Given the description of an element on the screen output the (x, y) to click on. 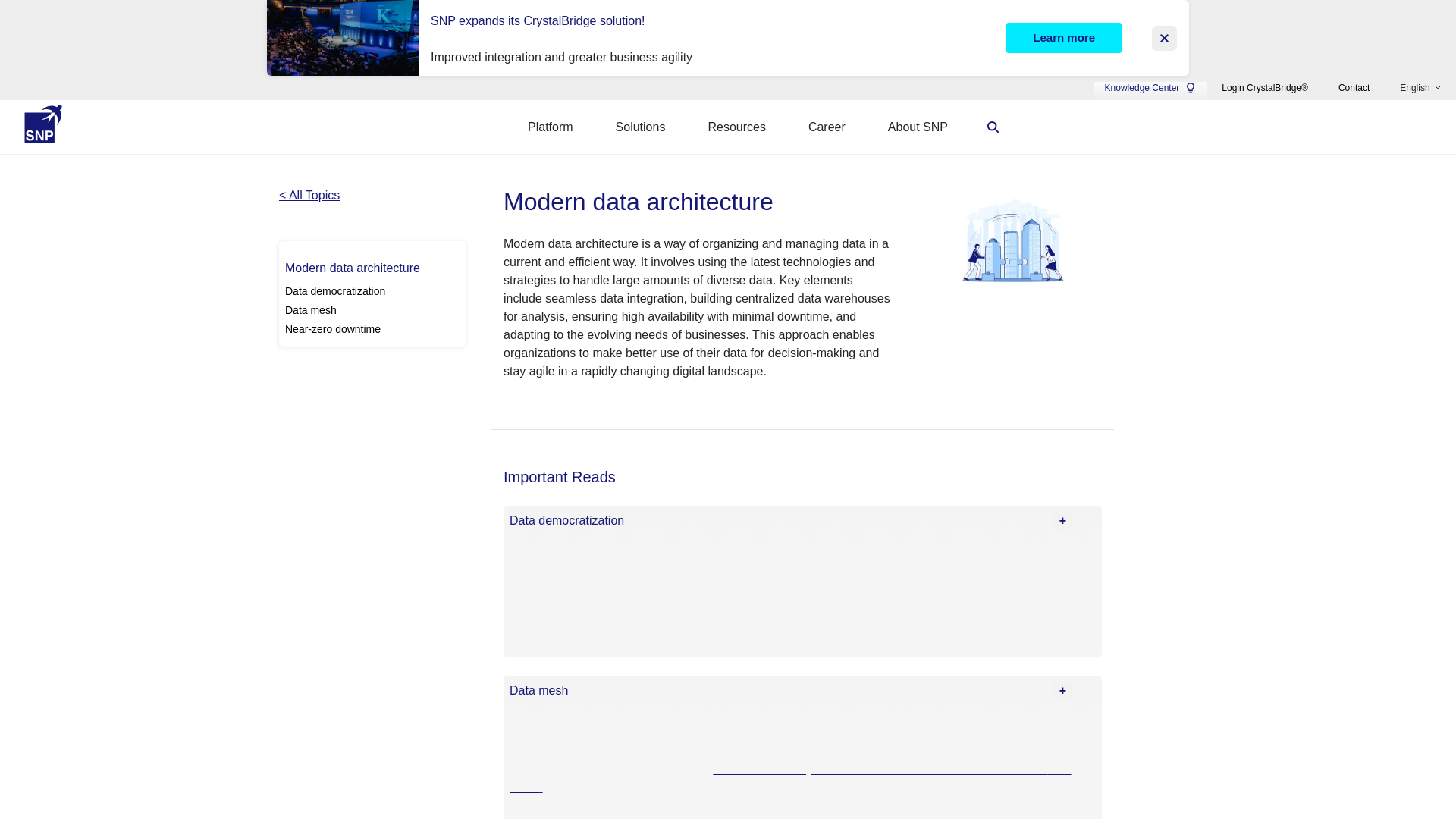
Resources (736, 126)
English (1420, 87)
Contact (1354, 87)
Knowledge Center (1150, 87)
Contact (1354, 87)
Solutions (641, 126)
Career (826, 126)
About SNP (917, 126)
modern-data-architecture-teaser-illustration.jpg (1010, 240)
Learn more (1063, 37)
Platform (550, 126)
